Given the description of an element on the screen output the (x, y) to click on. 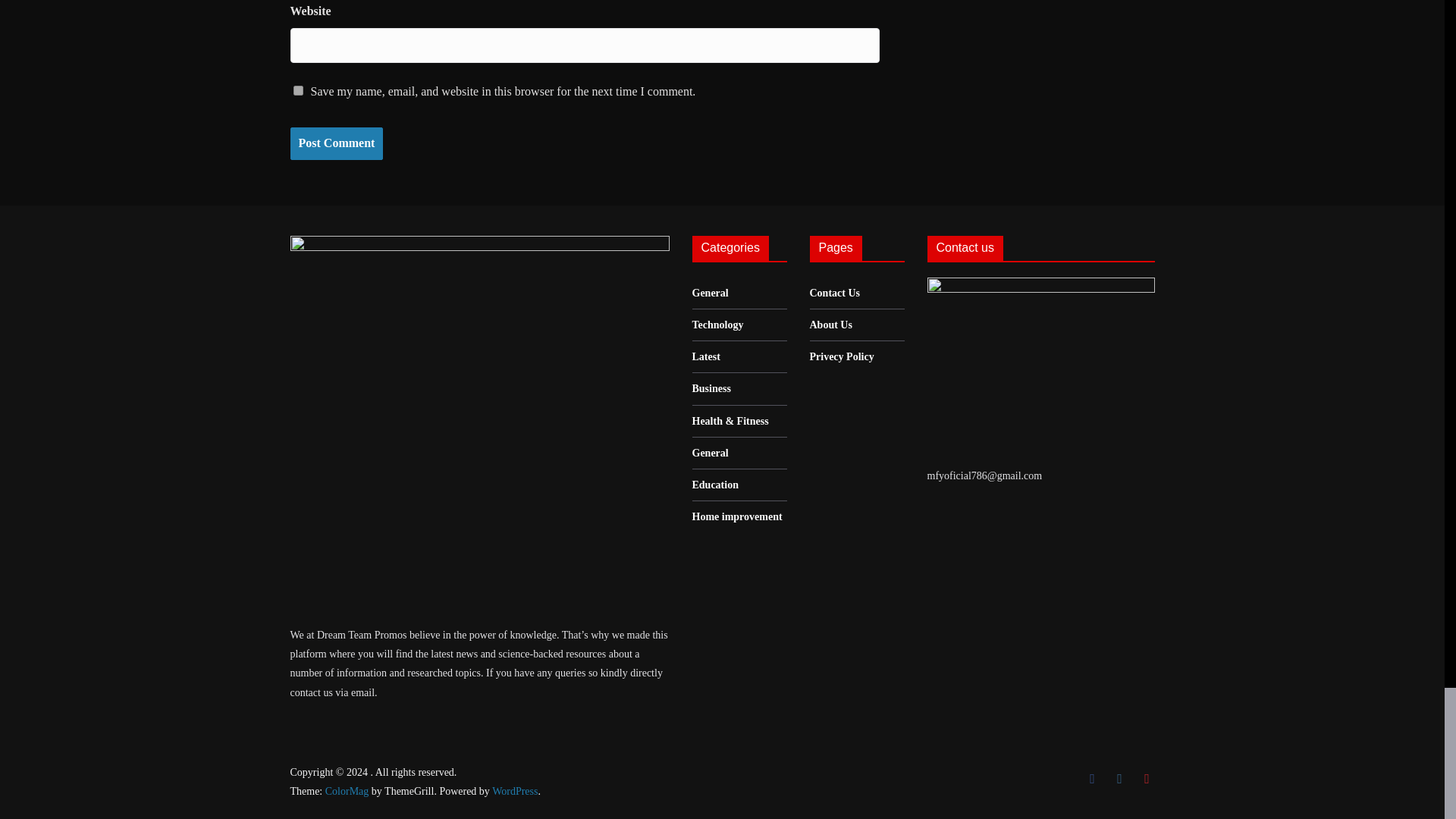
yes (297, 90)
Post Comment (335, 143)
